Given the description of an element on the screen output the (x, y) to click on. 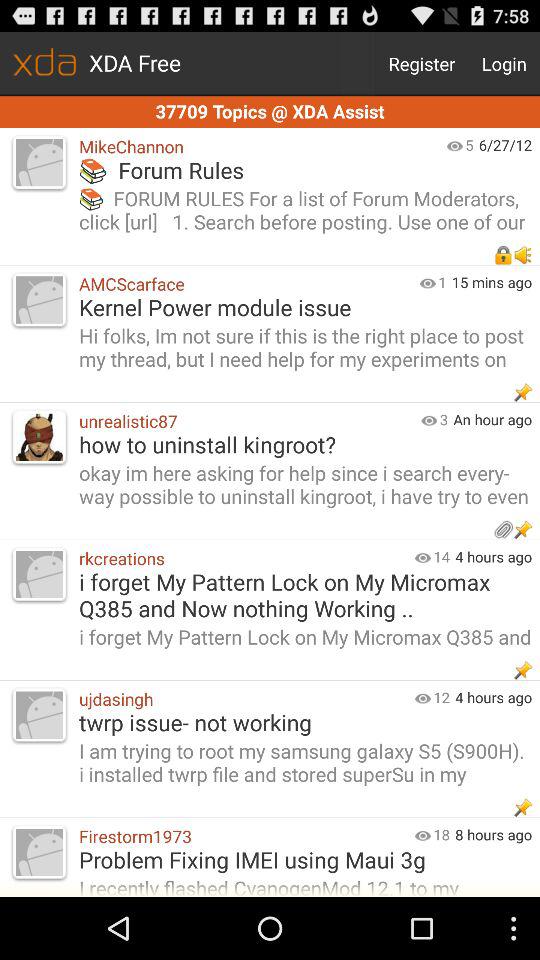
scroll until rkcreations (242, 558)
